Given the description of an element on the screen output the (x, y) to click on. 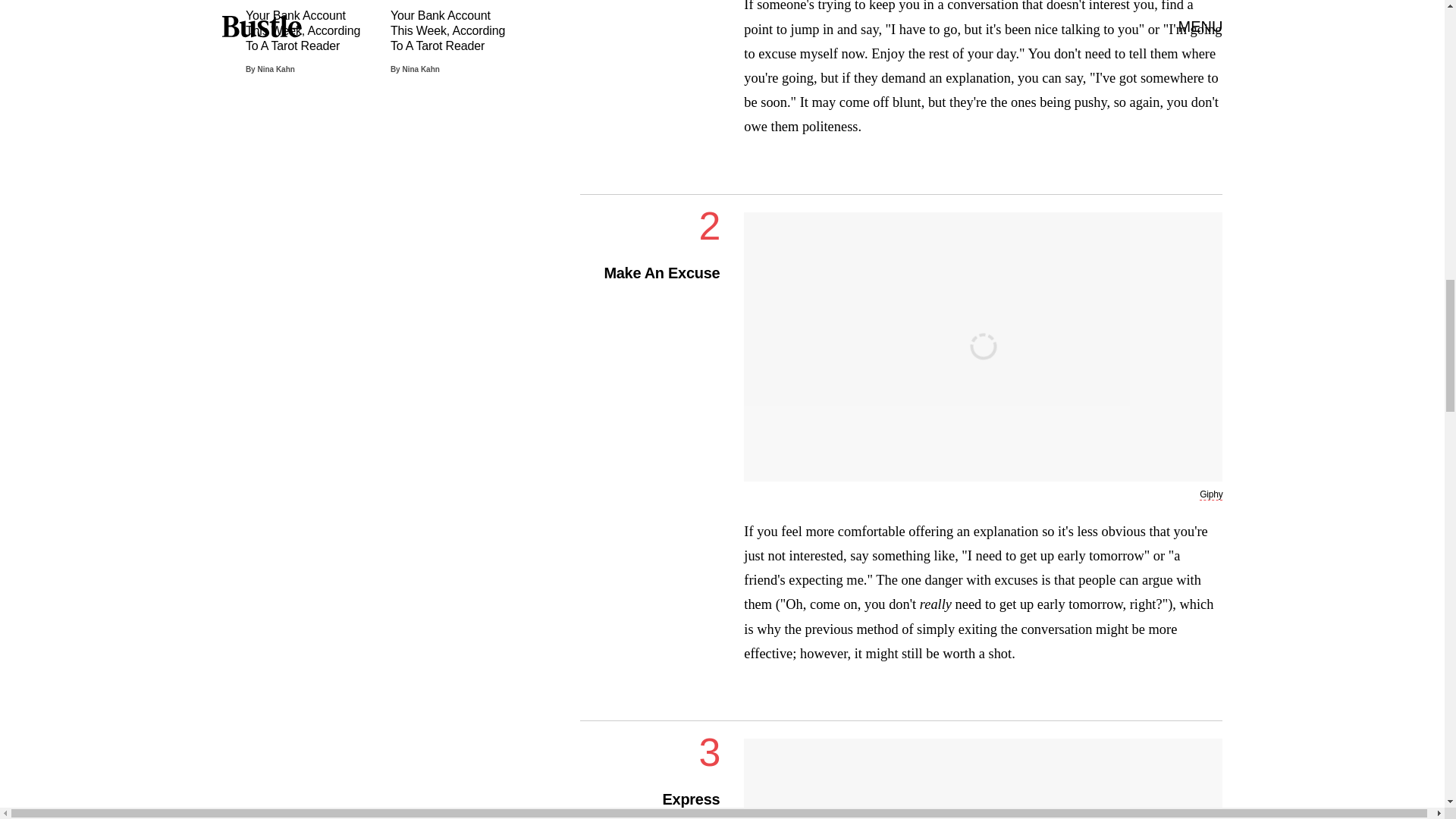
Giphy (1211, 494)
